Given the description of an element on the screen output the (x, y) to click on. 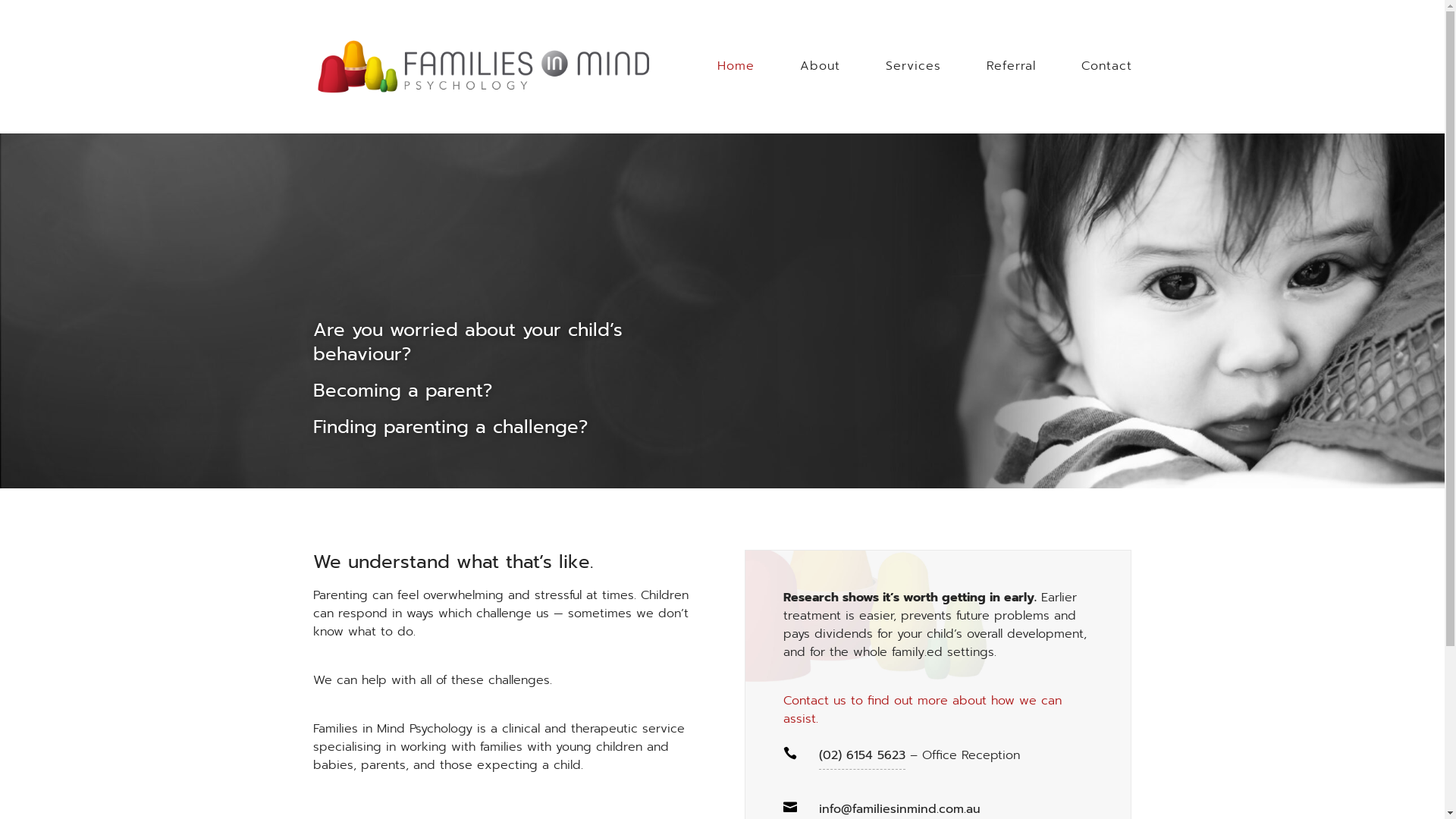
Contact us to find out more about how we can assist. Element type: text (922, 709)
Services Element type: text (913, 84)
Referral Element type: text (1010, 84)
Home Element type: text (735, 84)
About Element type: text (819, 84)
(02) 6154 5623 Element type: text (862, 757)
Contact Element type: text (1106, 84)
